Given the description of an element on the screen output the (x, y) to click on. 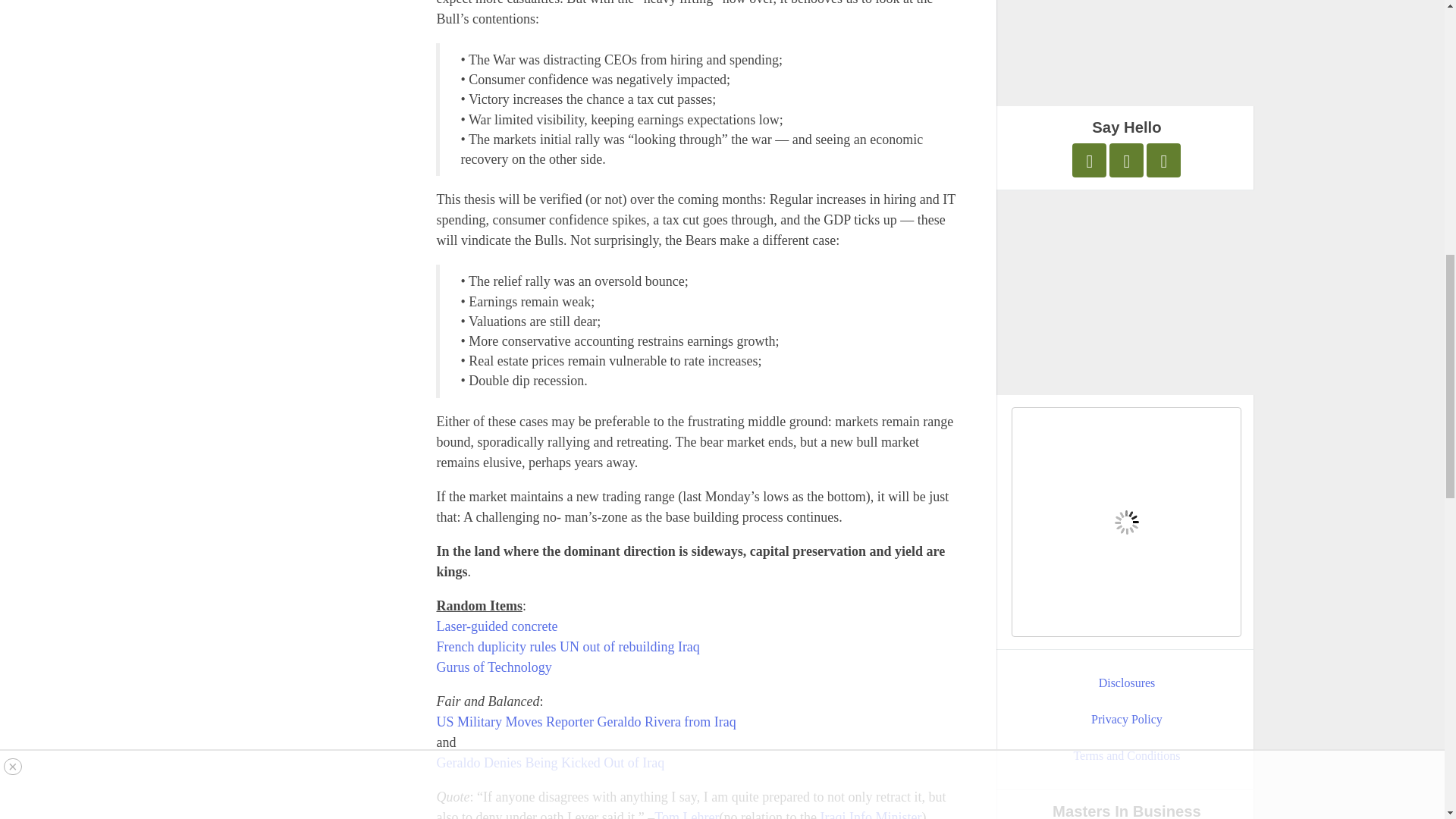
Geraldo Denies Being Kicked Out of Iraq (549, 762)
Laser-guided concrete (496, 626)
Terms and Conditions (1126, 755)
Iraqi Info (846, 814)
French duplicity rules UN out of rebuilding Iraq (566, 646)
Gurus of Technology (493, 667)
Twitter (1088, 160)
Facebook (1125, 160)
Privacy Policy (1126, 719)
Tom Lehrer (686, 814)
Minister (898, 814)
Disclosures (1126, 683)
US Military Moves Reporter Geraldo Rivera from Iraq (585, 721)
